Given the description of an element on the screen output the (x, y) to click on. 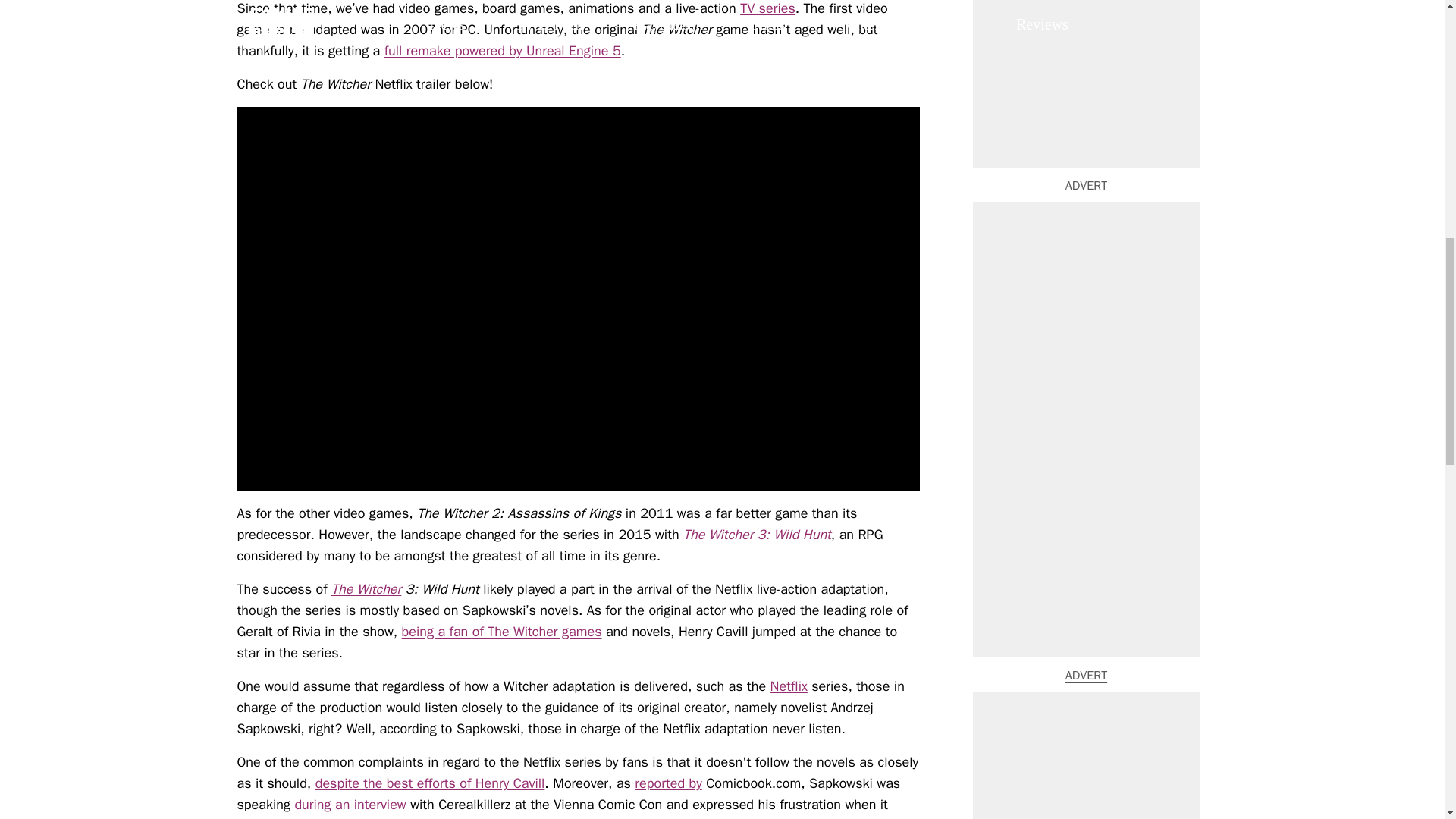
despite the best efforts of Henry Cavill (429, 782)
TV series (766, 8)
The Witcher (366, 588)
The Witcher 3: Wild Hunt (756, 534)
full remake powered by Unreal Engine 5 (502, 50)
reported by (667, 782)
Netflix (789, 686)
being a fan of The Witcher games (501, 631)
during an interview (350, 804)
